Given the description of an element on the screen output the (x, y) to click on. 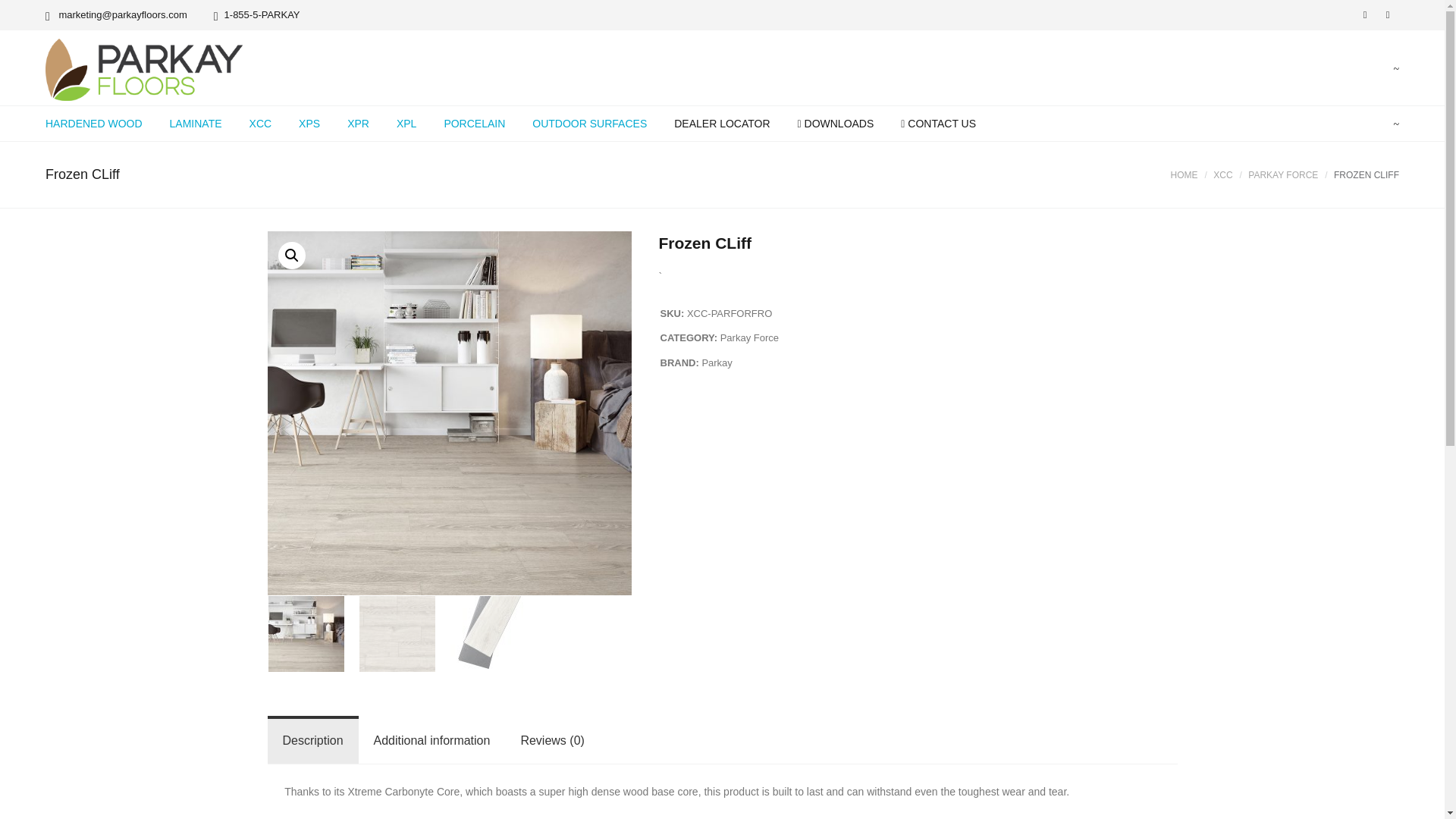
Instagram (1387, 15)
Facebook (1364, 15)
